Given the description of an element on the screen output the (x, y) to click on. 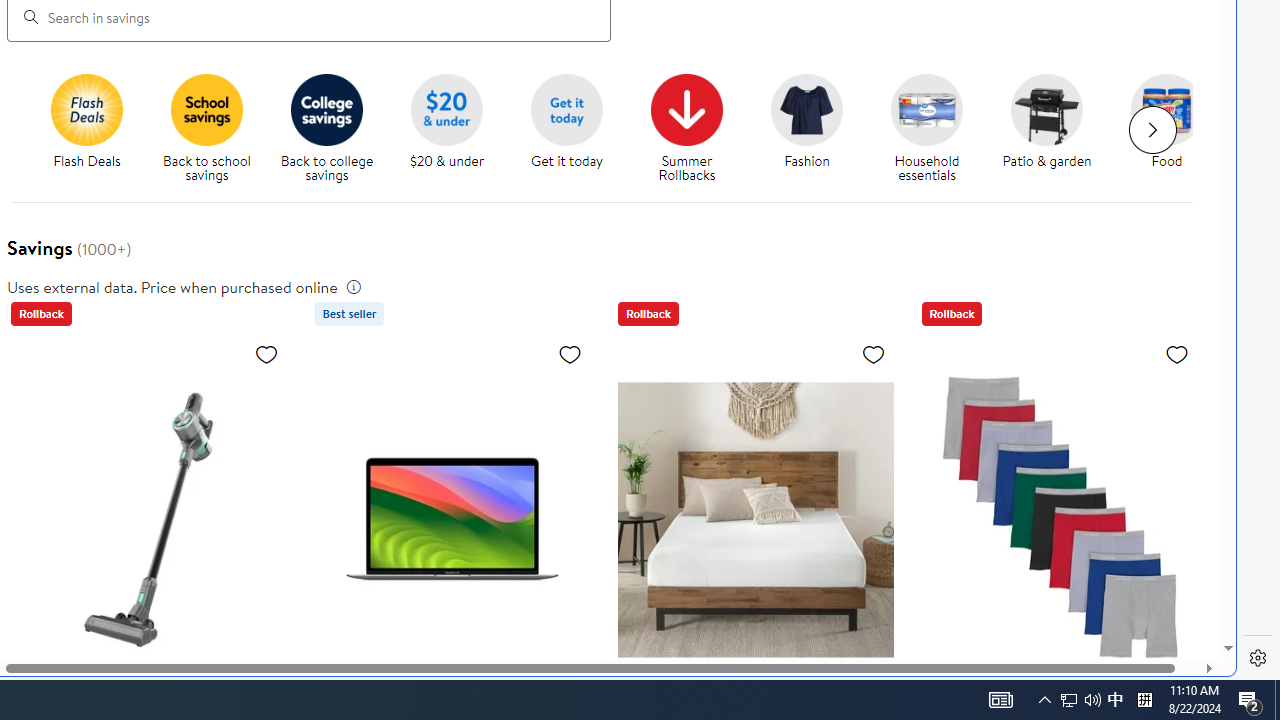
Flash deals (86, 109)
Household essentials Household essentials (927, 128)
Zinus Spa Sensations Serenity 8" Memory Foam Mattress, Full (755, 519)
Patio & garden (1046, 109)
Next slide for chipModuleWithImages list (1152, 129)
$20 & under (454, 128)
Back to School savings (207, 109)
Food Food (1166, 122)
Back to college savings (335, 128)
Fashion (815, 128)
